Given the description of an element on the screen output the (x, y) to click on. 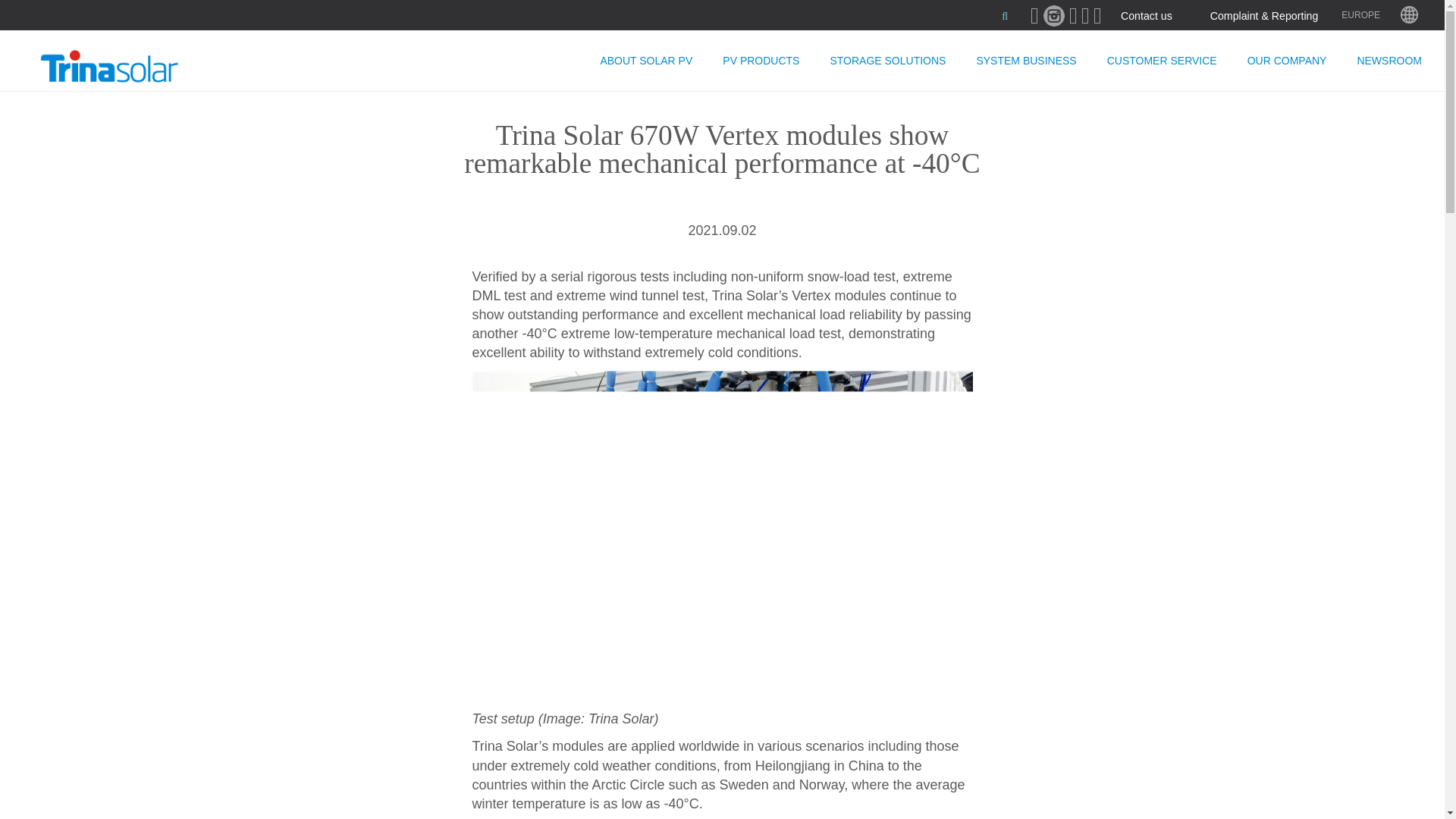
CUSTOMER SERVICE (1161, 60)
OUR COMPANY (1286, 60)
PV PRODUCTS (760, 60)
STORAGE SOLUTIONS (886, 60)
Trina Solar (127, 67)
SYSTEM BUSINESS (1025, 60)
NEWSROOM (1388, 60)
ABOUT SOLAR PV (646, 60)
